Given the description of an element on the screen output the (x, y) to click on. 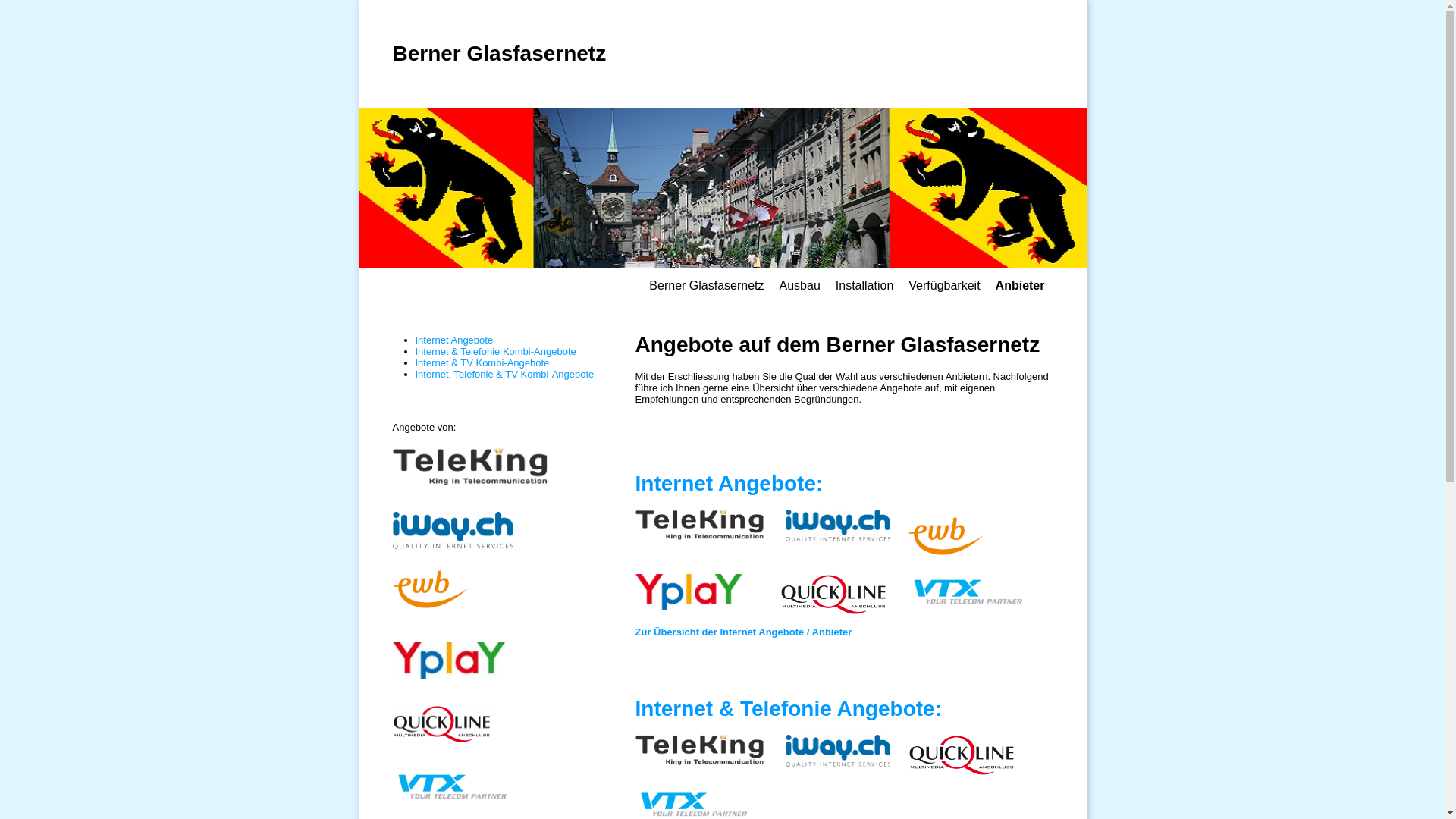
Ausbau Element type: text (799, 285)
Installation Element type: text (864, 285)
Berner Glasfasernetz Element type: text (499, 53)
Berner Glasfasernetz Element type: text (706, 285)
Internet & Telefonie Angebote: Element type: text (788, 708)
Internet Angebote Element type: text (454, 339)
Anbieter Element type: text (1020, 285)
Internet, Telefonie & TV Kombi-Angebote Element type: text (504, 373)
Internet & TV Kombi-Angebote Element type: text (482, 362)
Internet & Telefonie Kombi-Angebote Element type: text (495, 351)
Internet Angebote: Element type: text (729, 483)
